Given the description of an element on the screen output the (x, y) to click on. 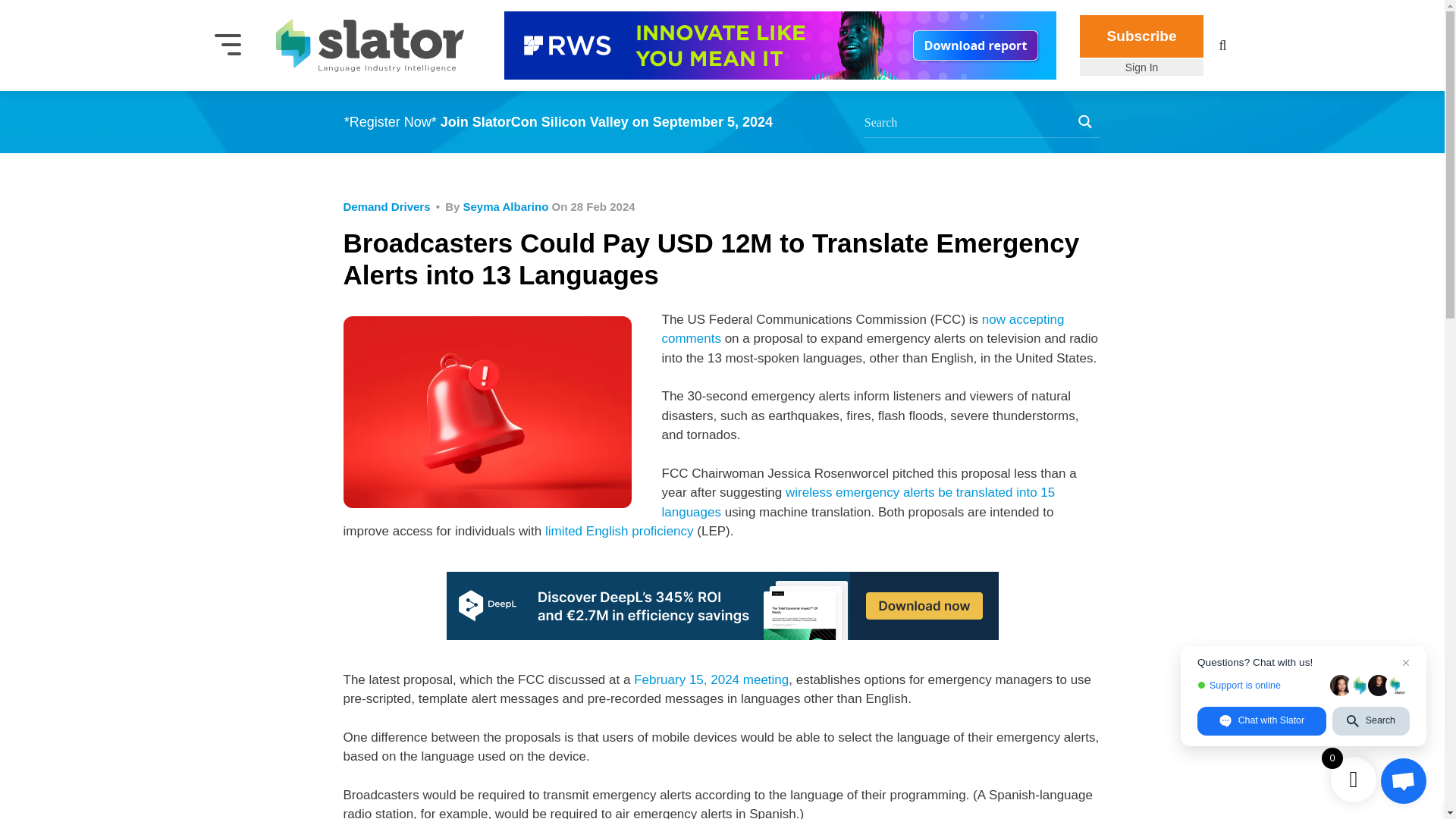
Subscribe (1142, 36)
Sign In (1142, 67)
